Given the description of an element on the screen output the (x, y) to click on. 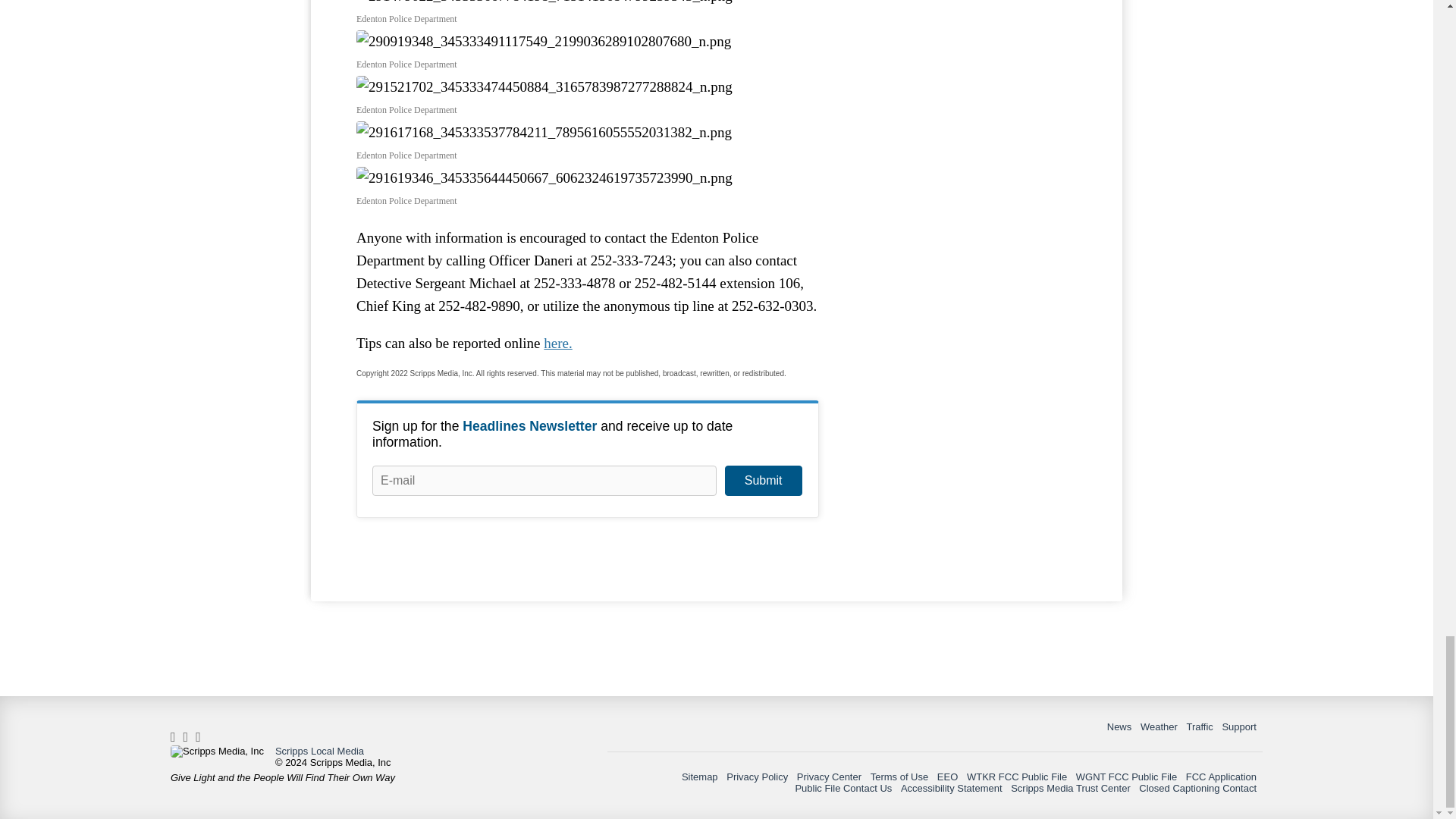
Submit (763, 481)
